Given the description of an element on the screen output the (x, y) to click on. 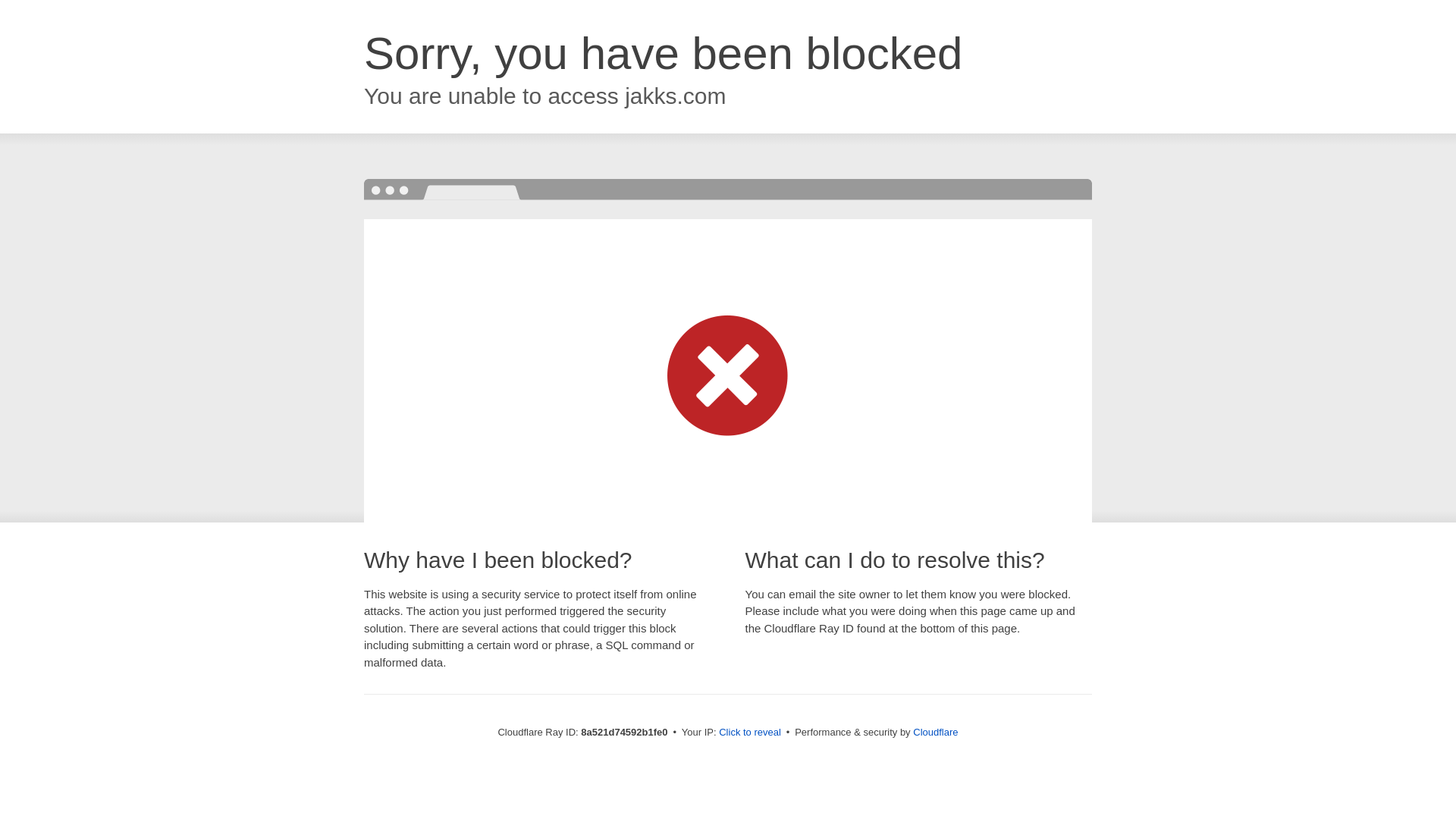
Click to reveal (749, 732)
Cloudflare (935, 731)
